Given the description of an element on the screen output the (x, y) to click on. 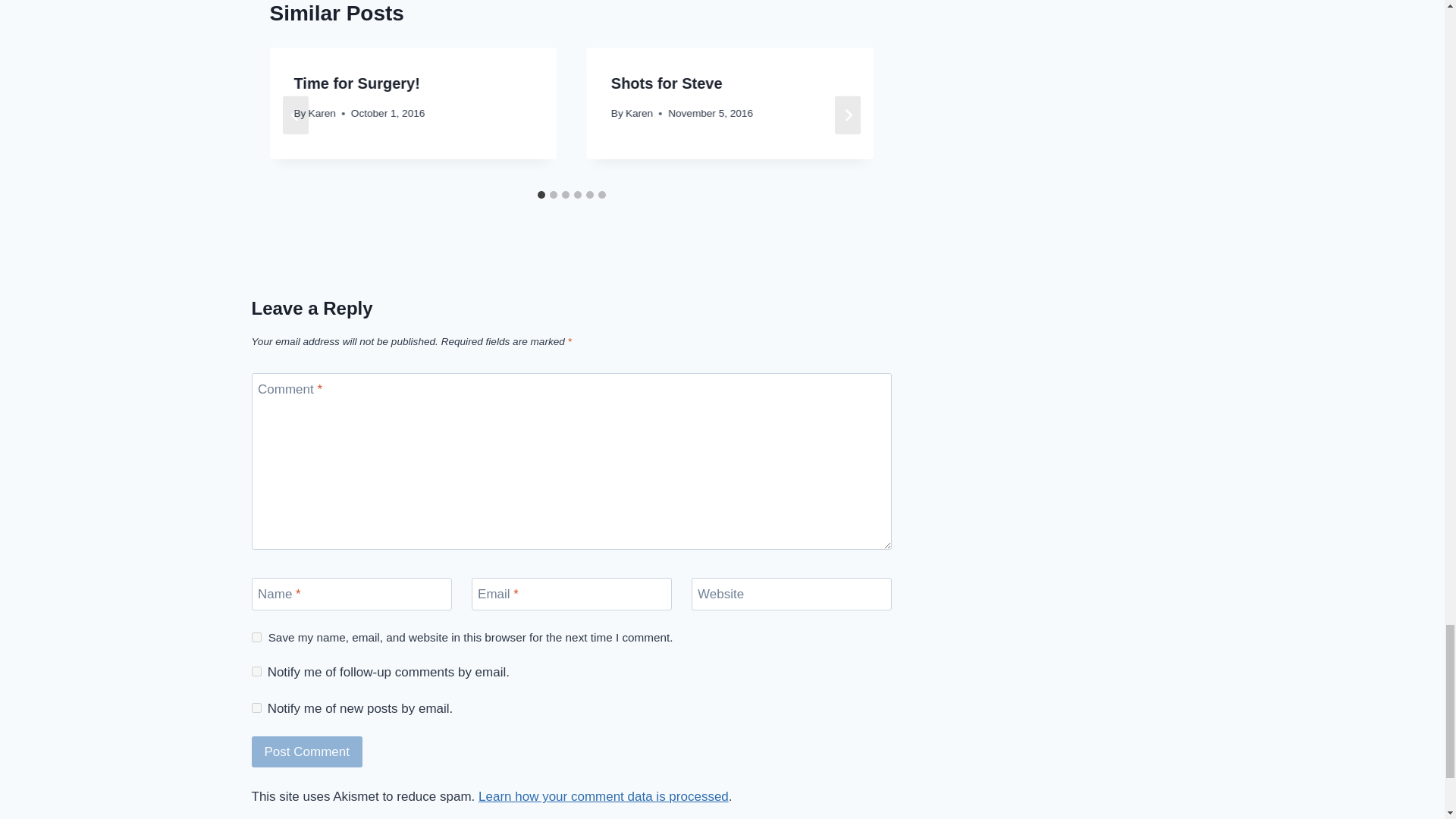
yes (256, 637)
subscribe (256, 707)
Post Comment (306, 751)
subscribe (256, 671)
